Given the description of an element on the screen output the (x, y) to click on. 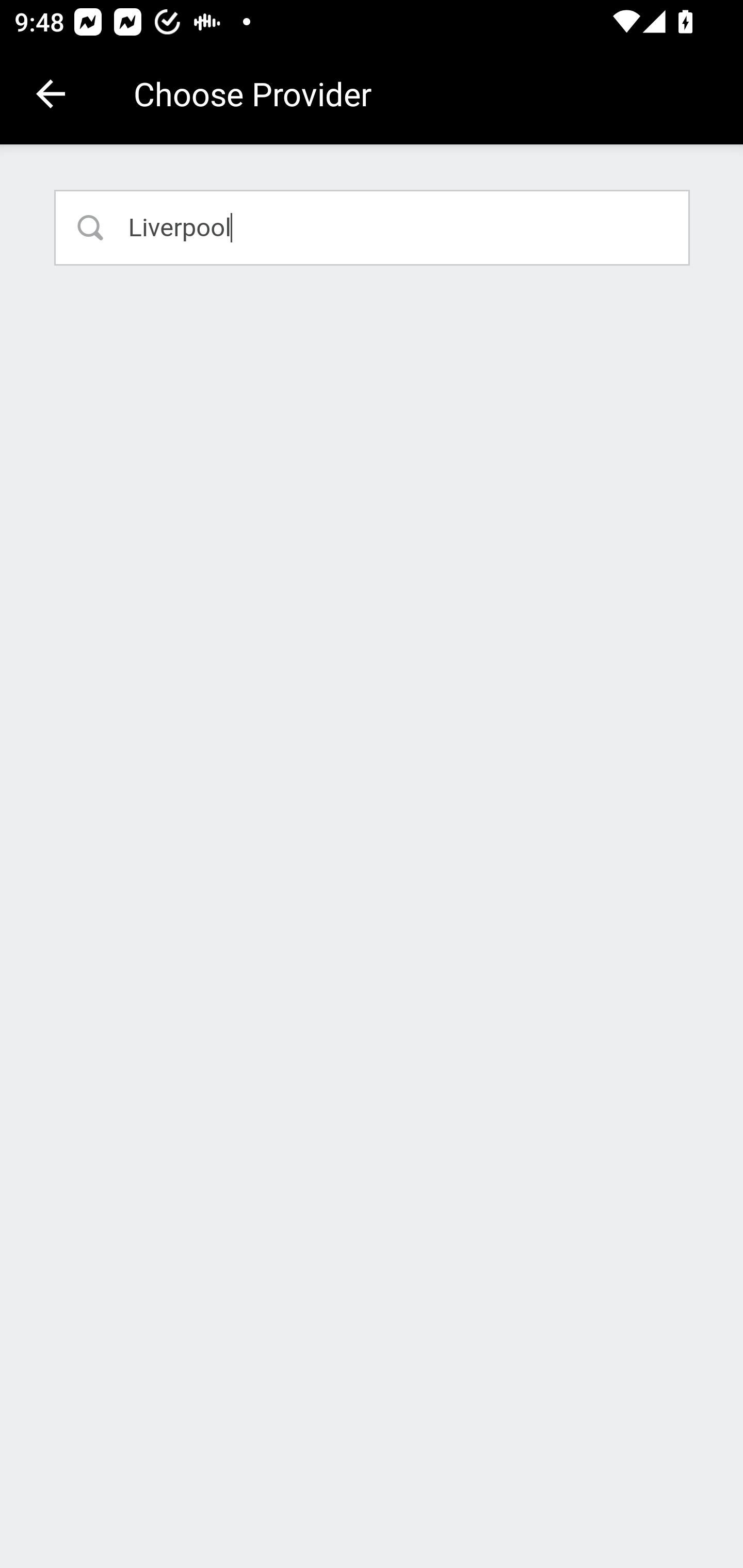
Navigate up (50, 93)
Liverpool (372, 227)
